Given the description of an element on the screen output the (x, y) to click on. 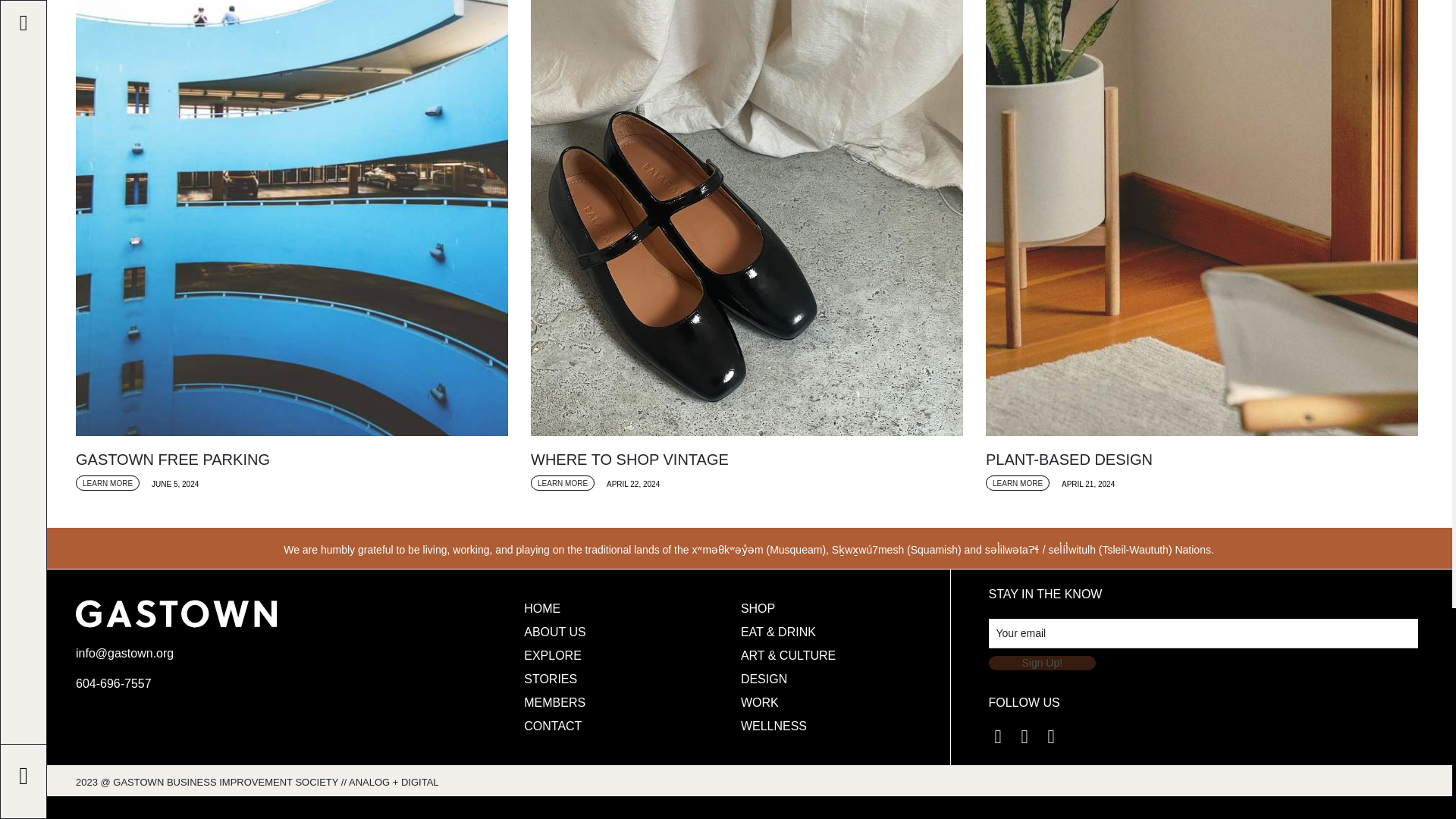
Sign Up! (1042, 663)
LEARN MORE (107, 482)
GASTOWN FREE PARKING (291, 459)
WHERE TO SHOP VINTAGE (746, 459)
